Given the description of an element on the screen output the (x, y) to click on. 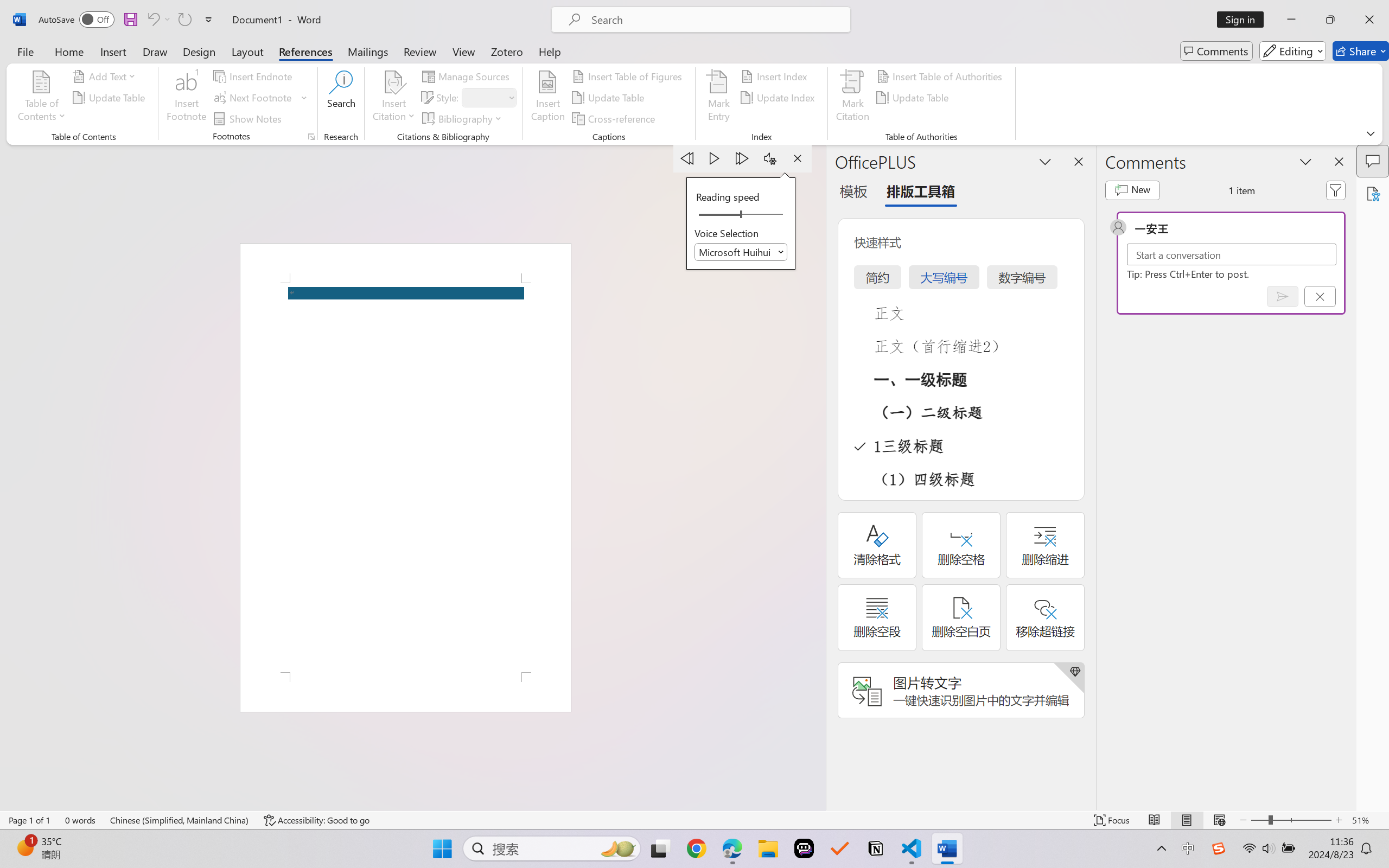
Update Table... (110, 97)
Reading speed (740, 214)
Undo Apply Quick Style Set (158, 19)
